Given the description of an element on the screen output the (x, y) to click on. 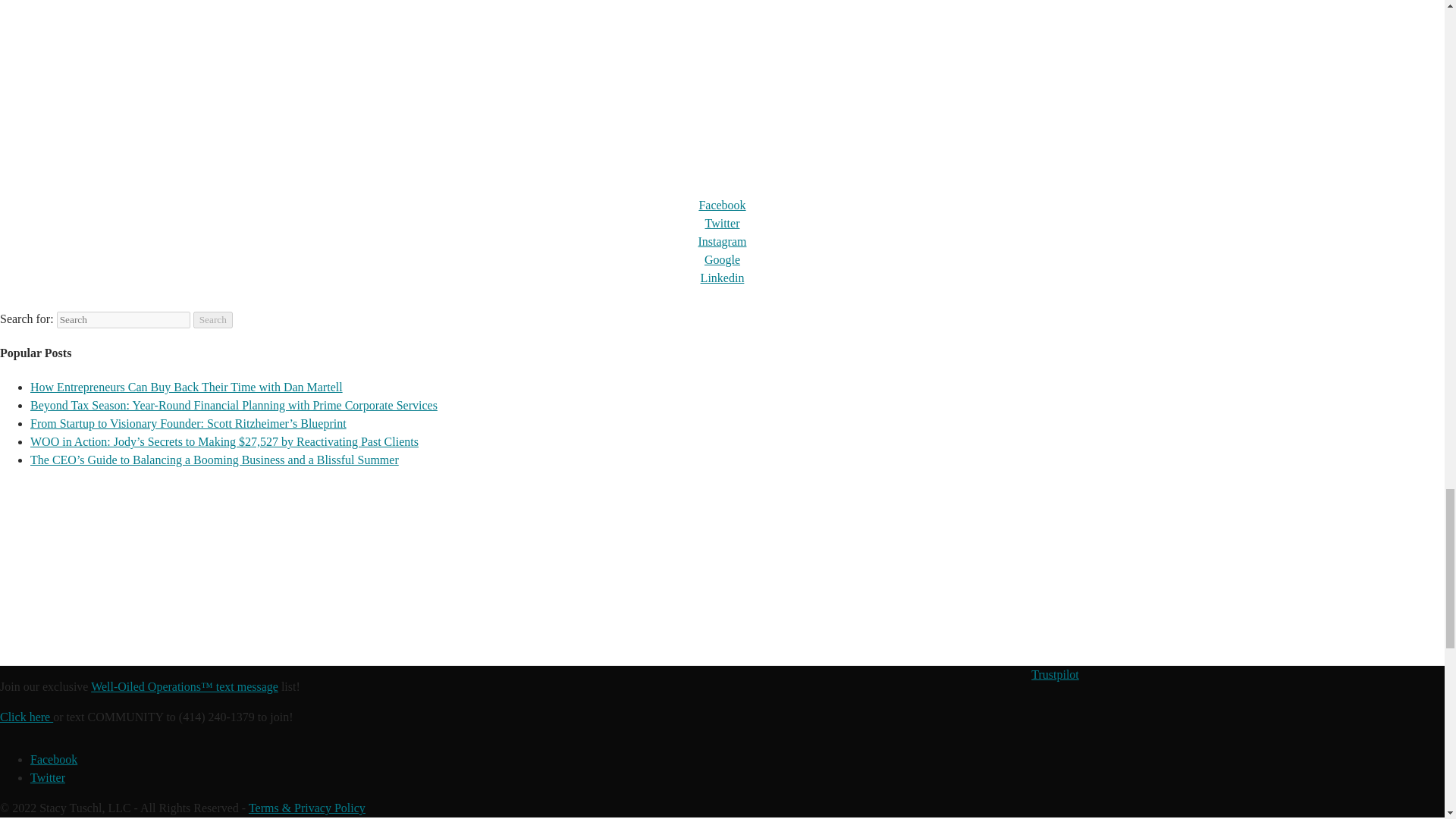
Twitter (721, 223)
Twitter (47, 777)
Search (212, 320)
Facebook (53, 758)
Facebook (721, 205)
Instagram (721, 241)
Google (721, 259)
Trustpilot (1054, 674)
Search (212, 320)
Click here (26, 716)
Linkedin (722, 277)
How Entrepreneurs Can Buy Back Their Time with Dan Martell (186, 386)
Search (212, 320)
